Given the description of an element on the screen output the (x, y) to click on. 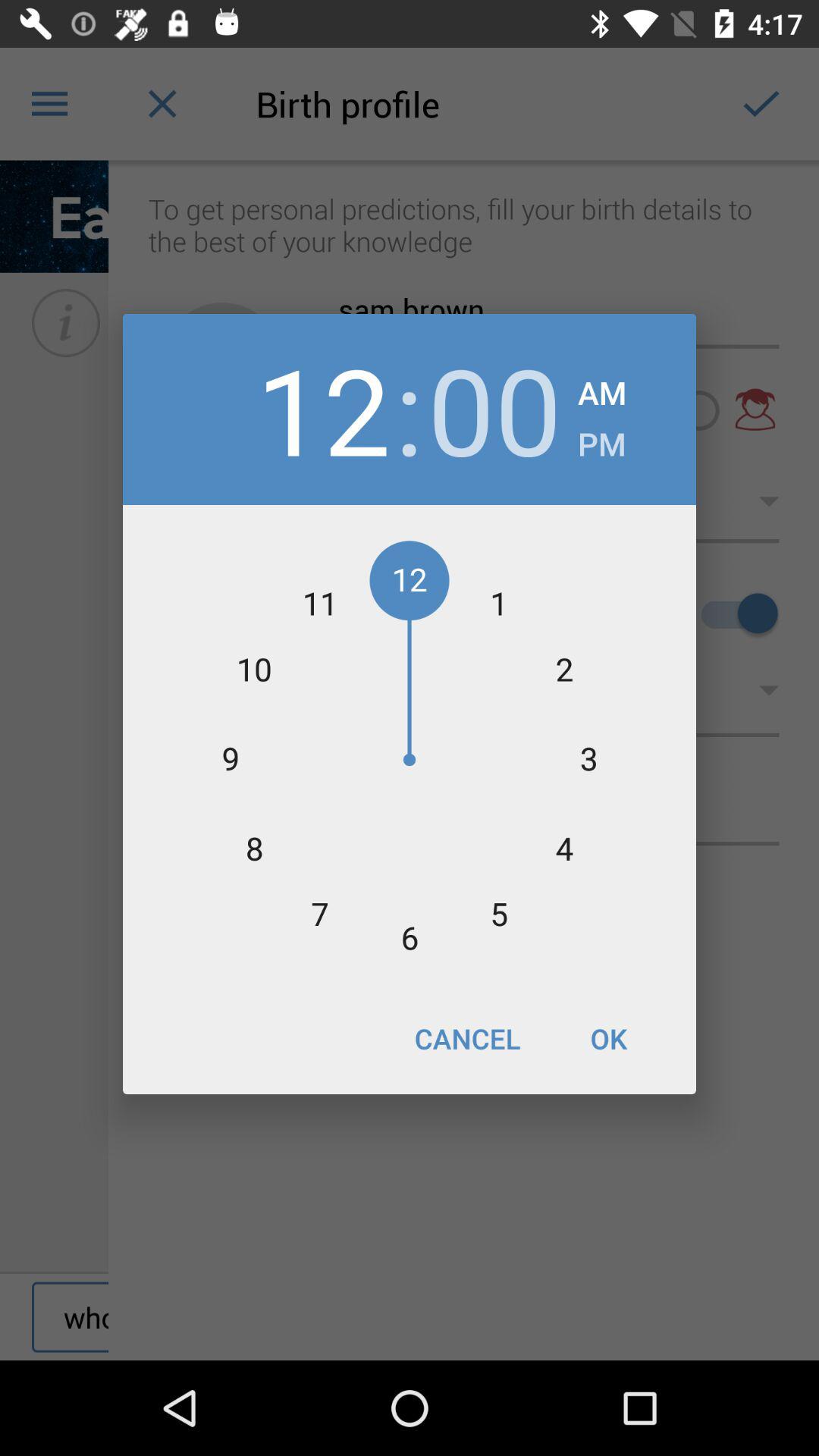
choose the icon to the left of : (323, 408)
